Given the description of an element on the screen output the (x, y) to click on. 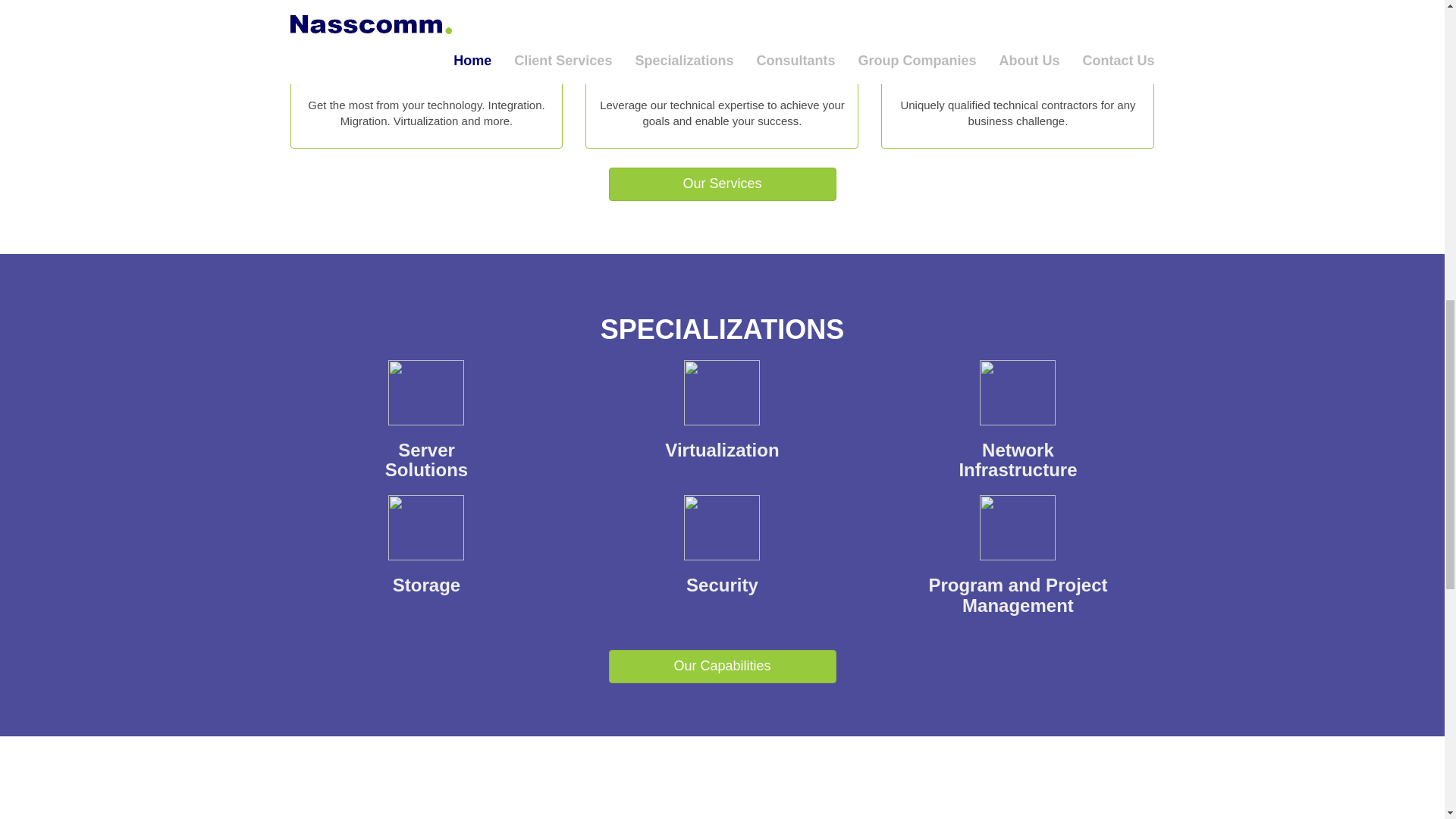
Our Services (1017, 431)
Virtualization (721, 183)
Storage (722, 422)
Security (425, 431)
Our Capabilities (425, 558)
